Given the description of an element on the screen output the (x, y) to click on. 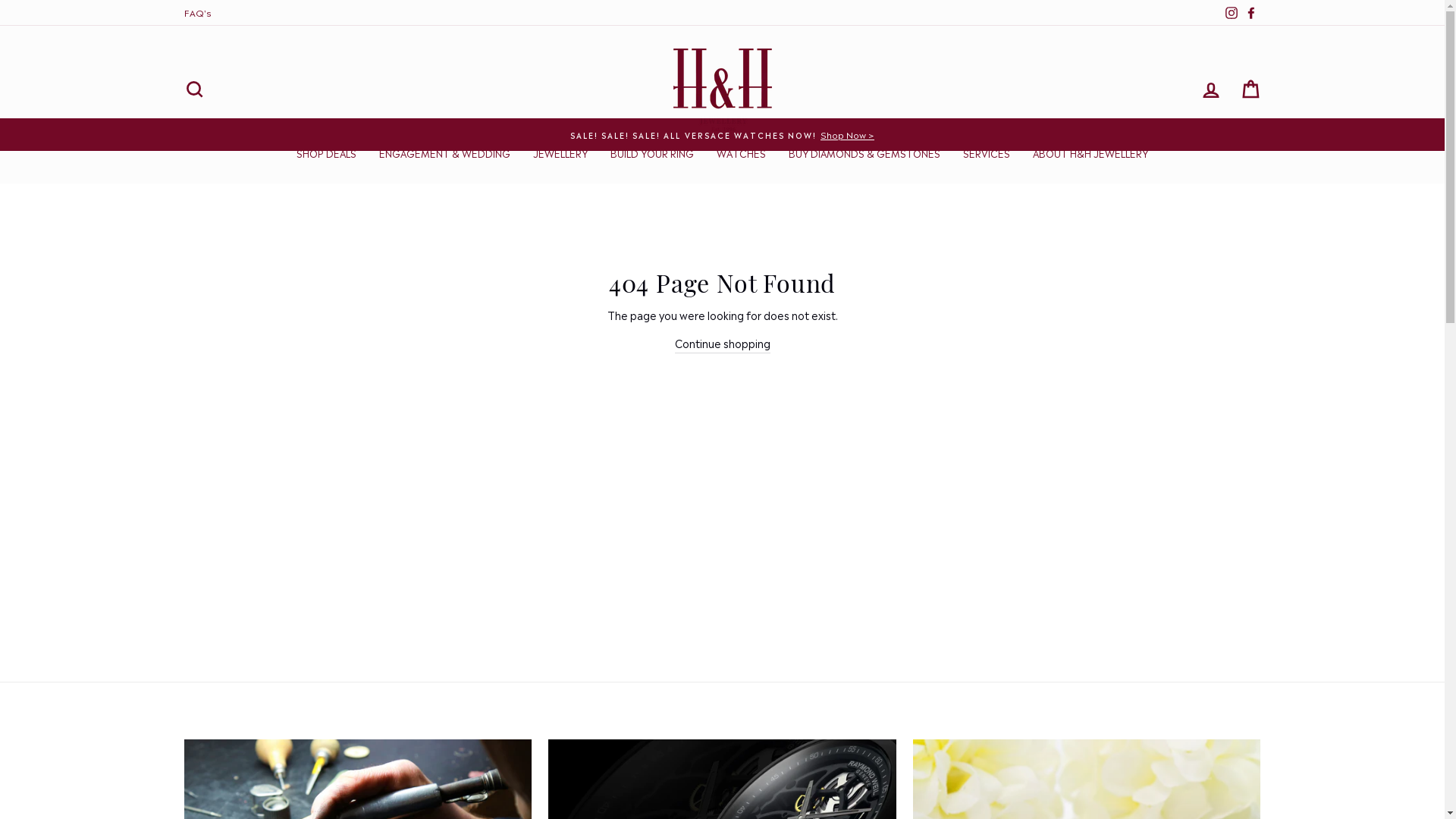
Continue shopping Element type: text (722, 343)
SHOP DEALS Element type: text (326, 153)
BUY DIAMONDS & GEMSTONES Element type: text (864, 153)
ENGAGEMENT & WEDDING Element type: text (444, 153)
ABOUT H&H JEWELLERY Element type: text (1090, 153)
BUILD YOUR RING Element type: text (652, 153)
JEWELLERY Element type: text (560, 153)
Skip to content Element type: text (0, 0)
Cart Element type: text (1249, 89)
FAQ's Element type: text (196, 12)
Instagram Element type: text (1230, 12)
Facebook Element type: text (1250, 12)
Search Element type: text (193, 89)
WATCHES Element type: text (741, 153)
SERVICES Element type: text (986, 153)
Log in Element type: text (1210, 89)
